Given the description of an element on the screen output the (x, y) to click on. 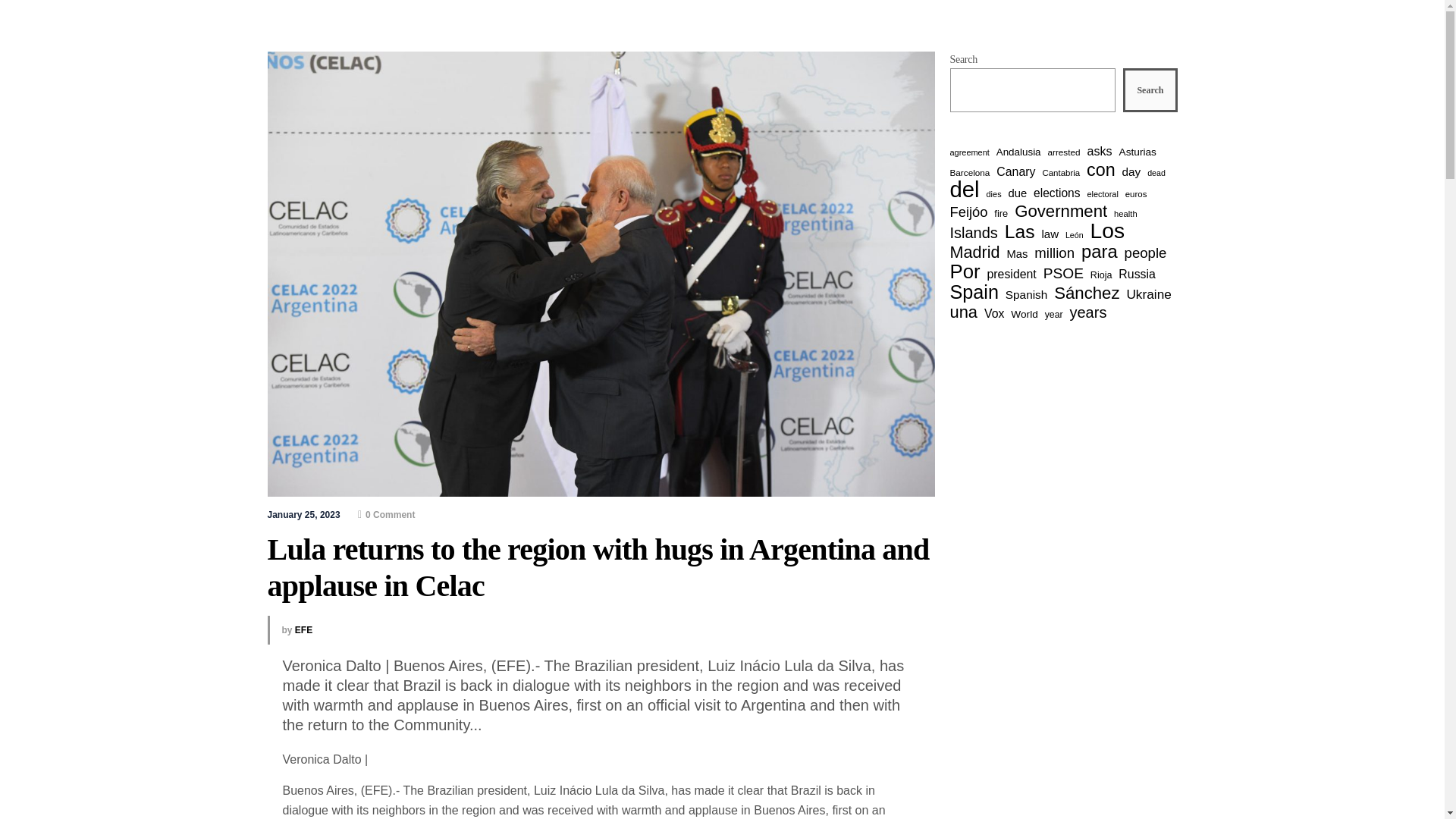
Search (1149, 89)
Andalusia (1018, 152)
0 Comment (386, 514)
EFE (304, 629)
agreement (968, 152)
